Given the description of an element on the screen output the (x, y) to click on. 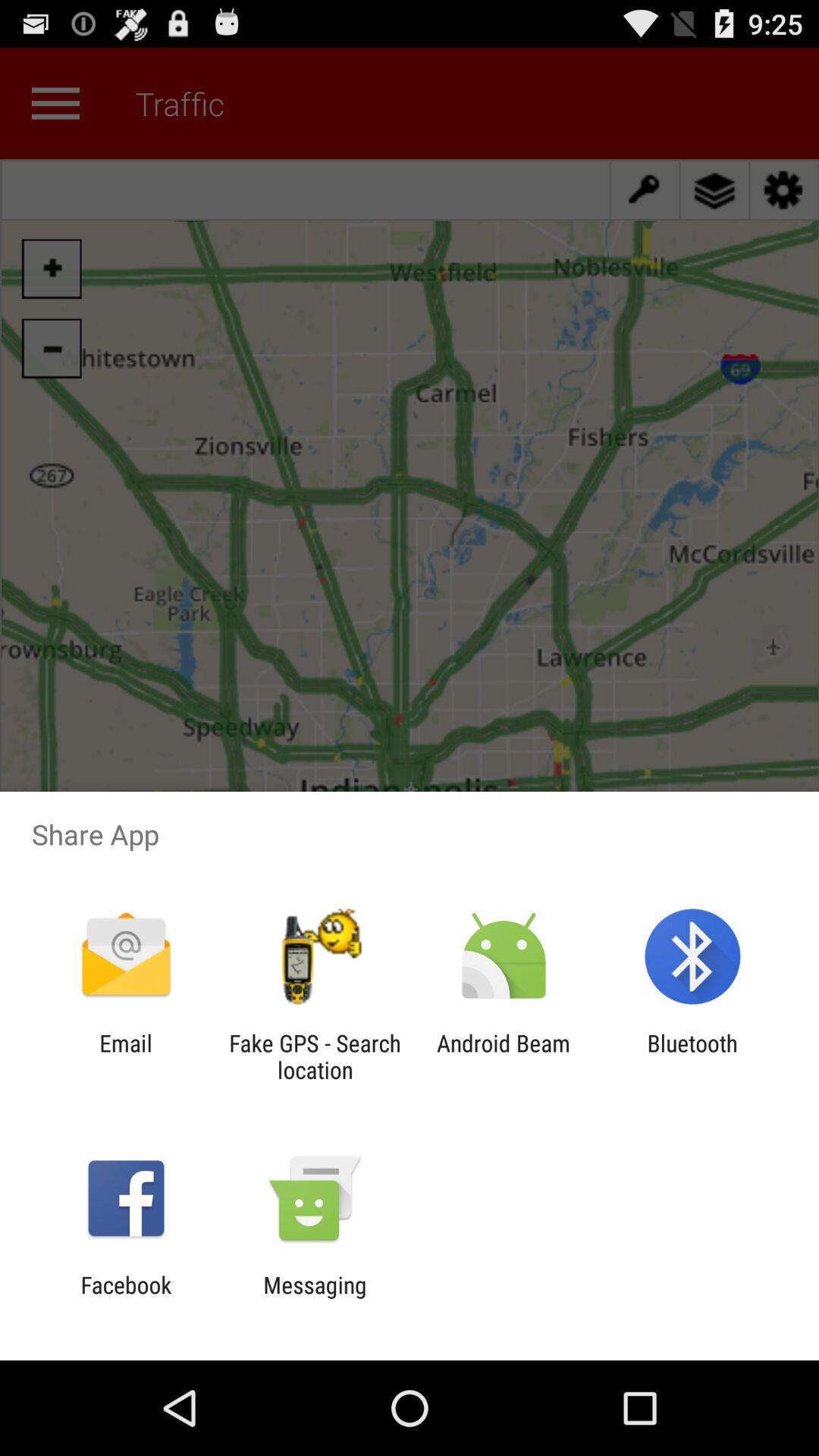
flip to facebook app (125, 1298)
